Given the description of an element on the screen output the (x, y) to click on. 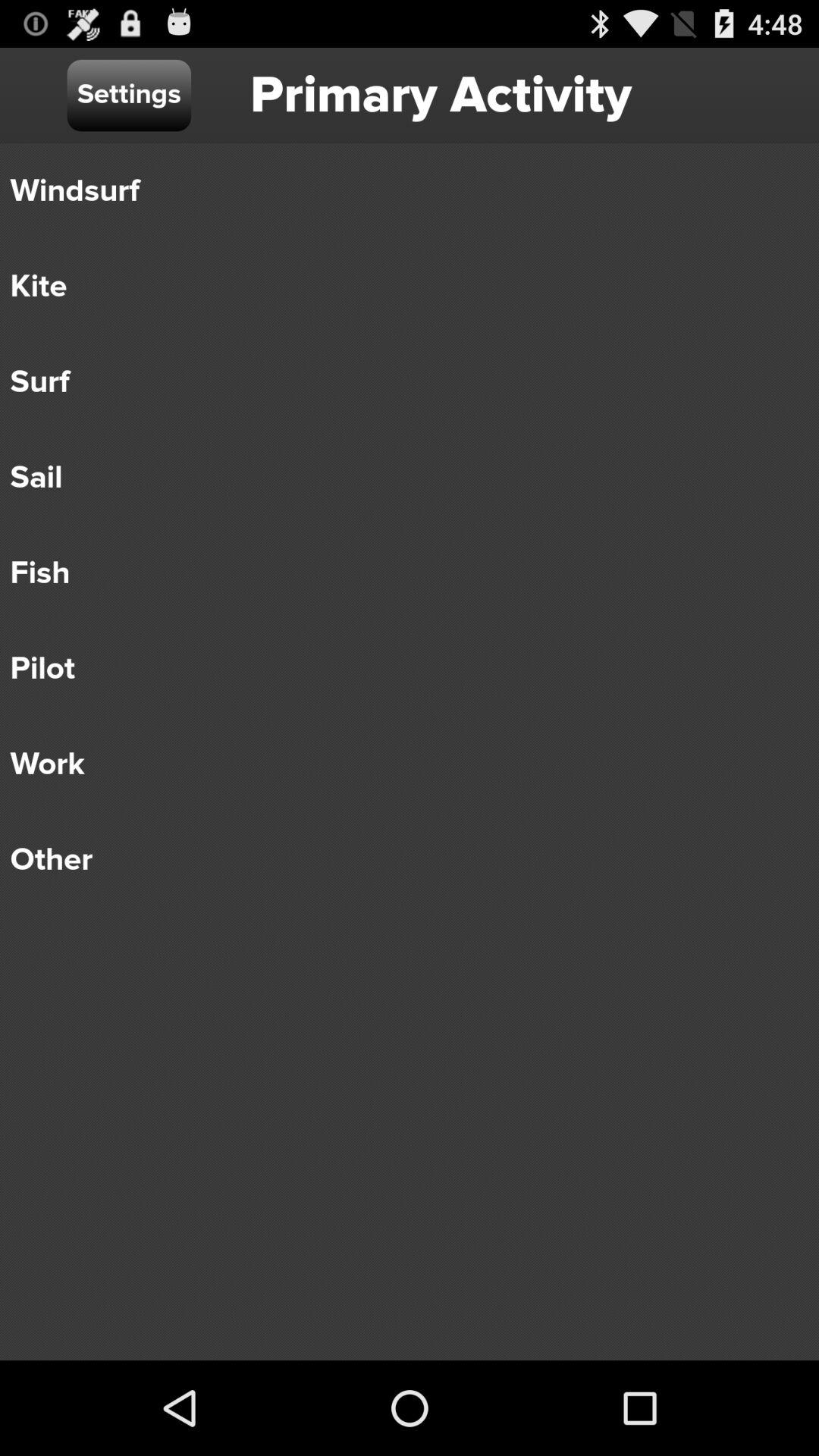
select the icon above other icon (399, 763)
